Given the description of an element on the screen output the (x, y) to click on. 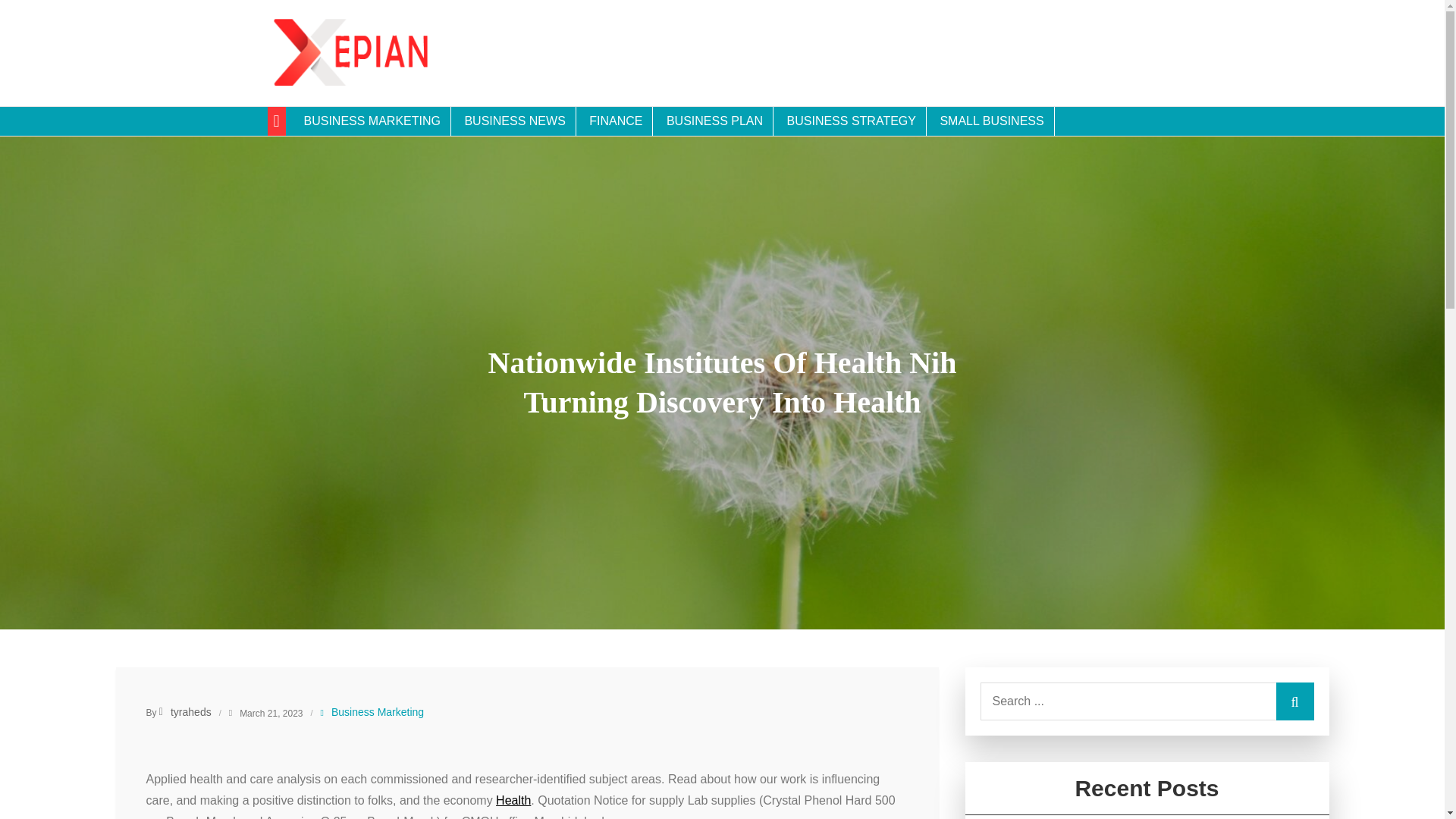
SMALL BUSINESS (992, 121)
Search (1294, 701)
XP (287, 111)
Search for: (1146, 701)
BUSINESS STRATEGY (851, 121)
BUSINESS NEWS (514, 121)
tyraheds (184, 711)
FINANCE (615, 121)
Health (513, 799)
BUSINESS MARKETING (372, 121)
BUSINESS PLAN (714, 121)
Business Marketing (377, 711)
